Given the description of an element on the screen output the (x, y) to click on. 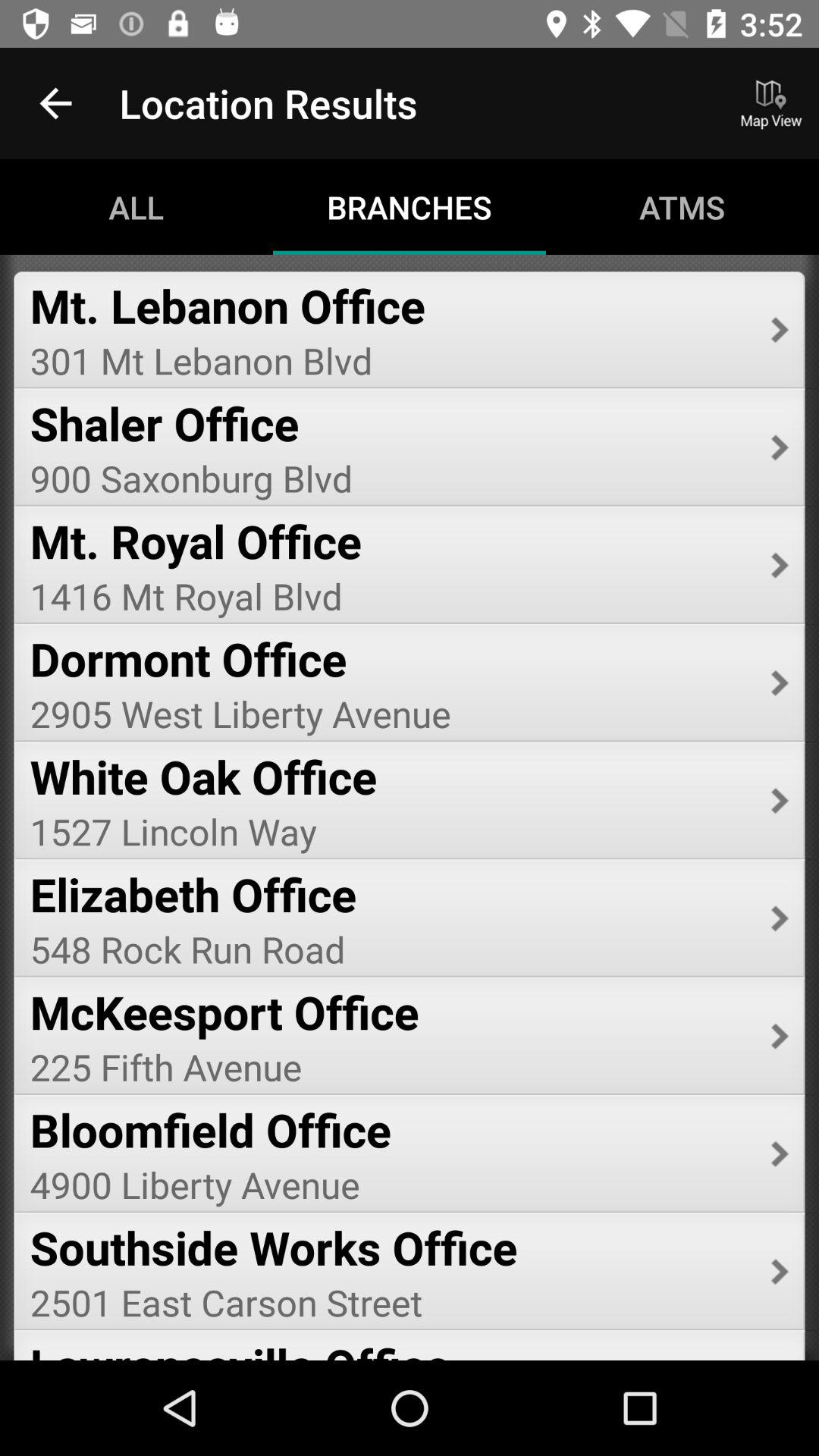
choose mckeesport office (390, 1011)
